Given the description of an element on the screen output the (x, y) to click on. 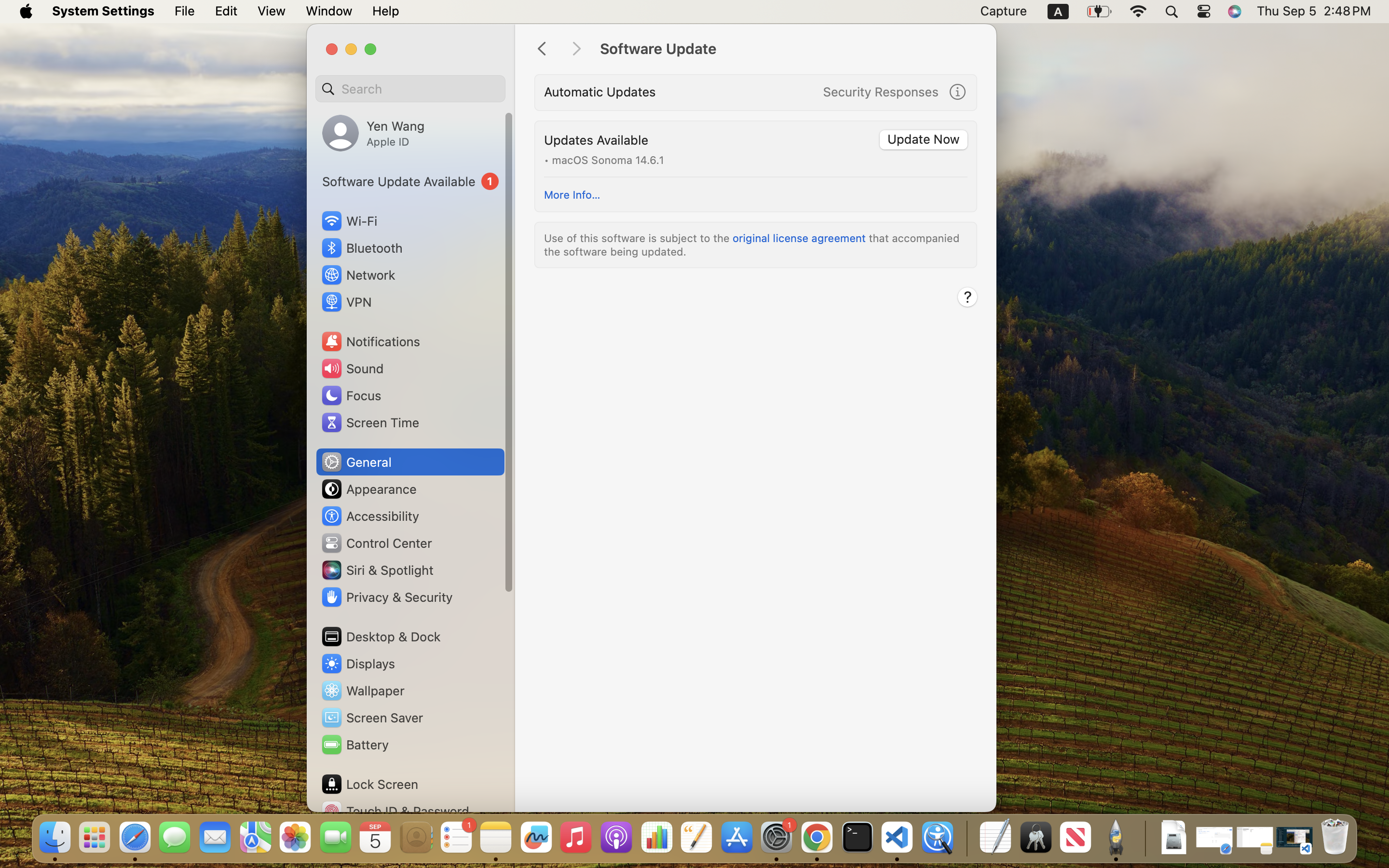
Control Center Element type: AXStaticText (376, 542)
Screen Saver Element type: AXStaticText (371, 717)
Notifications Element type: AXStaticText (370, 340)
Screen Time Element type: AXStaticText (369, 422)
Updates Available Element type: AXStaticText (596, 139)
